Given the description of an element on the screen output the (x, y) to click on. 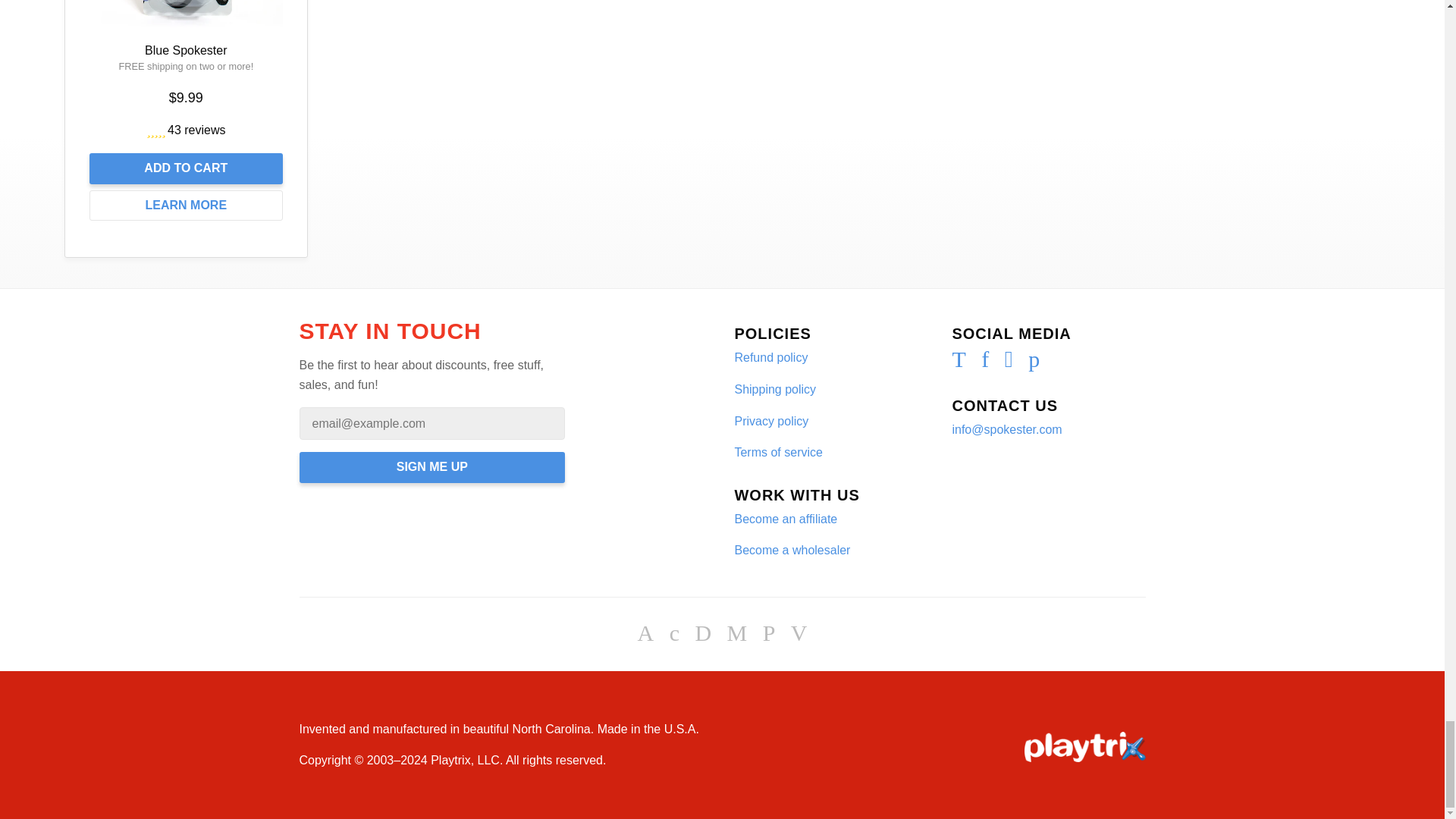
Sign me up (431, 467)
Spokester on Twitter (958, 362)
